Given the description of an element on the screen output the (x, y) to click on. 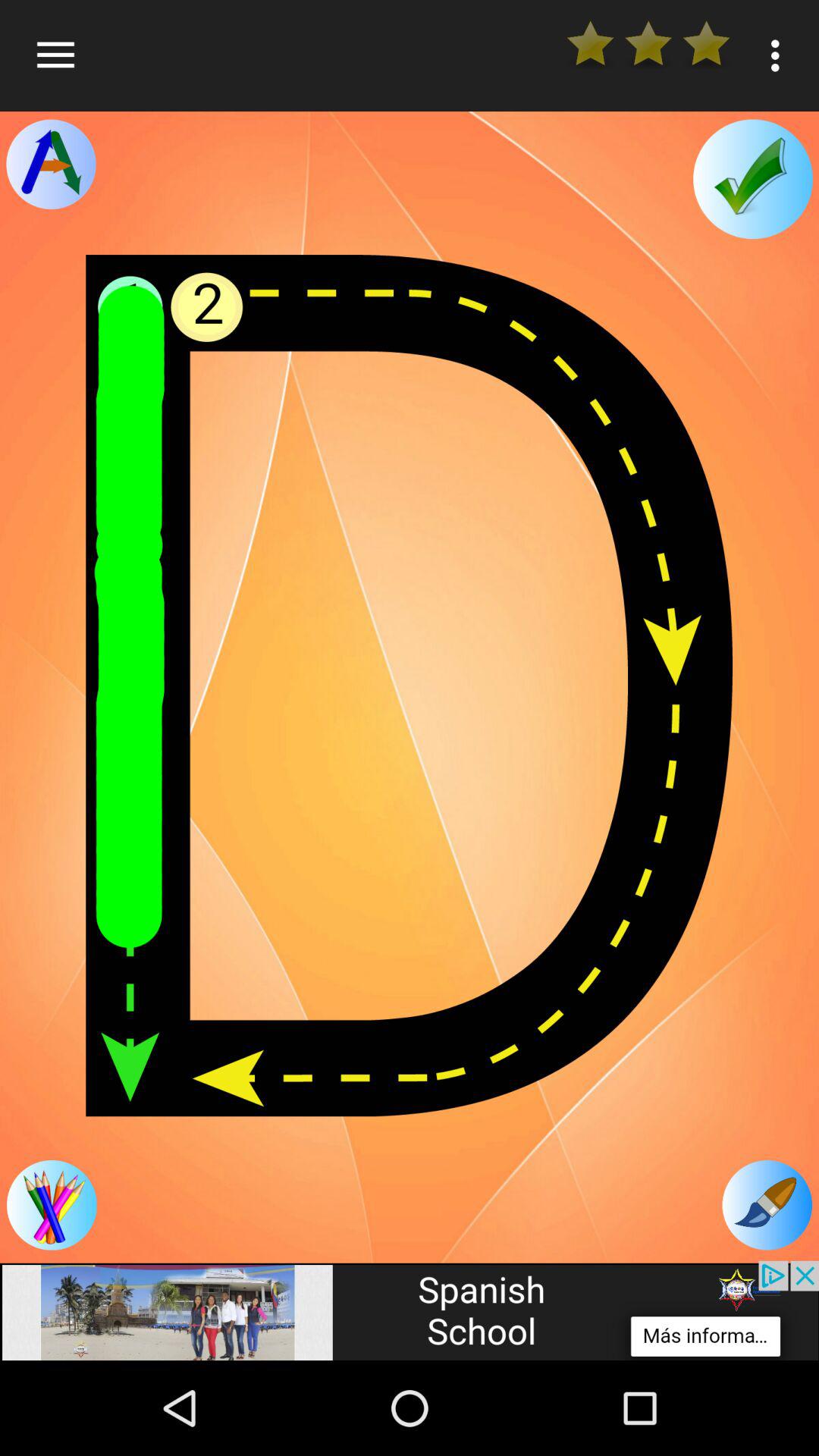
toggle tracing (51, 164)
